Given the description of an element on the screen output the (x, y) to click on. 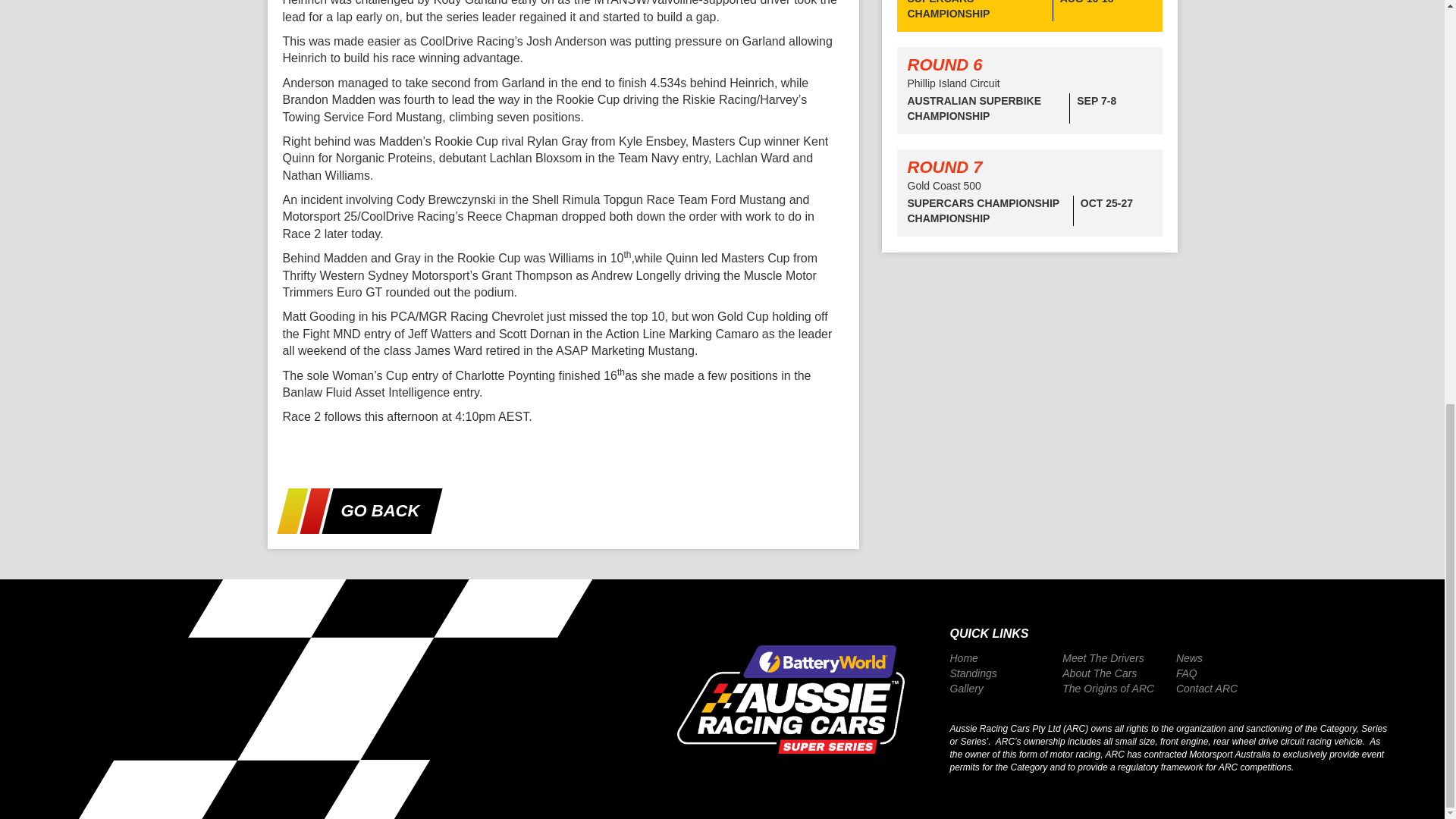
Gallery (965, 688)
Meet The Drivers (1102, 657)
About The Cars (1099, 672)
The Origins of ARC (1108, 688)
GO BACK (368, 510)
Standings (972, 672)
FAQ (1186, 672)
Home (962, 657)
News (1189, 657)
Contact ARC (1206, 688)
